Given the description of an element on the screen output the (x, y) to click on. 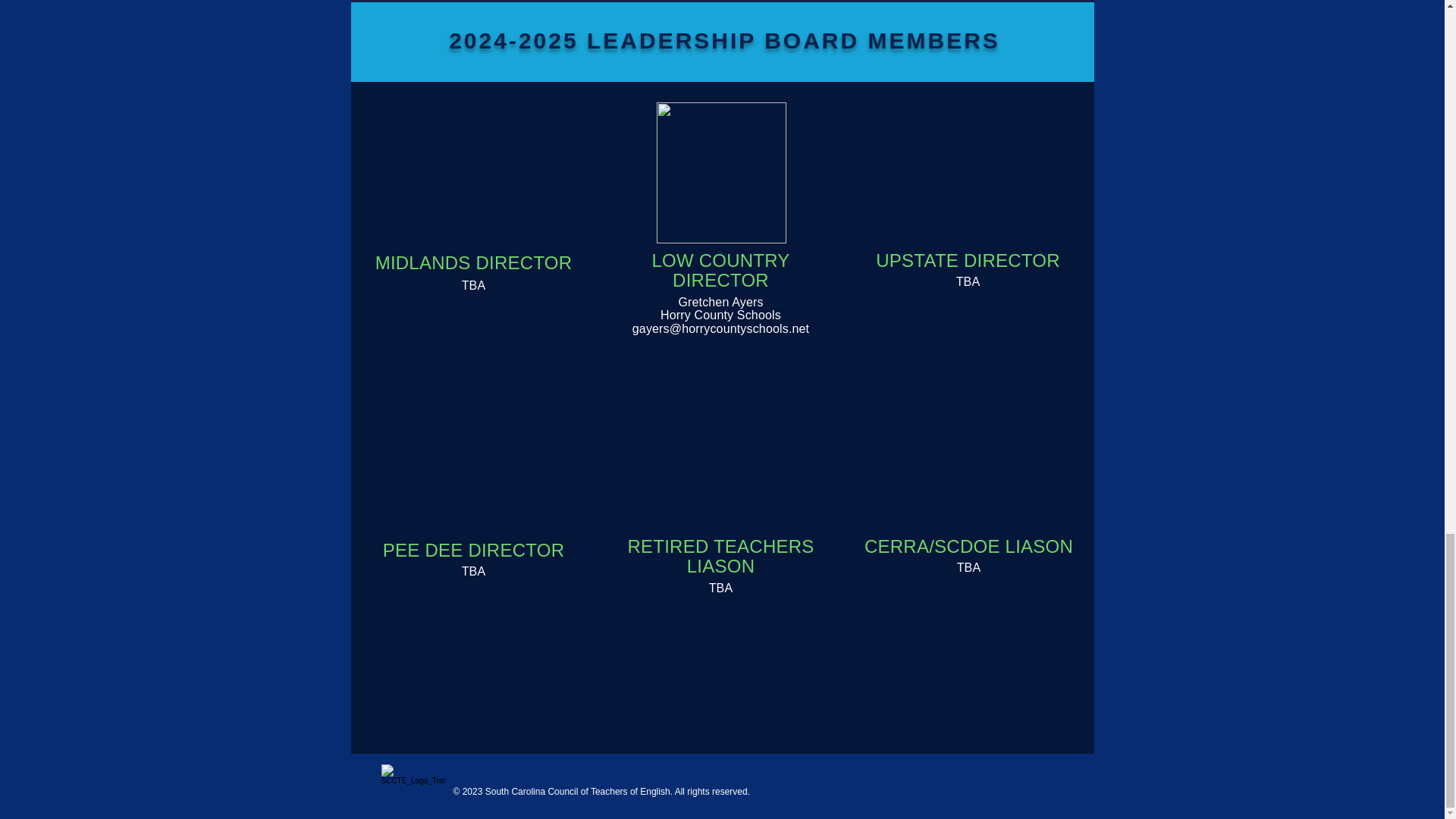
GAyers.jpg (721, 172)
